Given the description of an element on the screen output the (x, y) to click on. 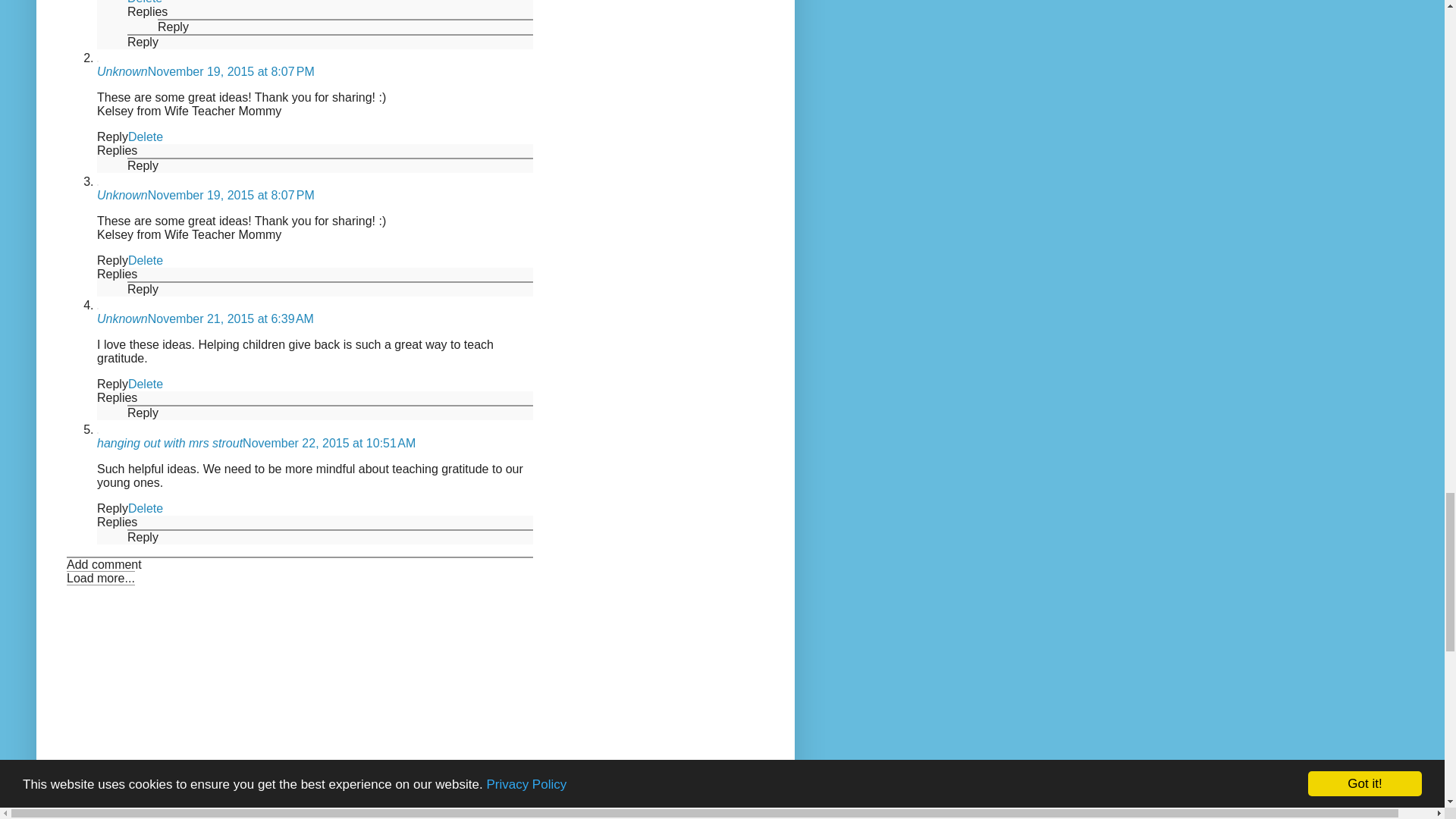
Replies (147, 11)
Reply (143, 42)
Wife Teacher Mommy (222, 110)
Delete (144, 2)
Unknown (122, 71)
Reply (173, 26)
